Given the description of an element on the screen output the (x, y) to click on. 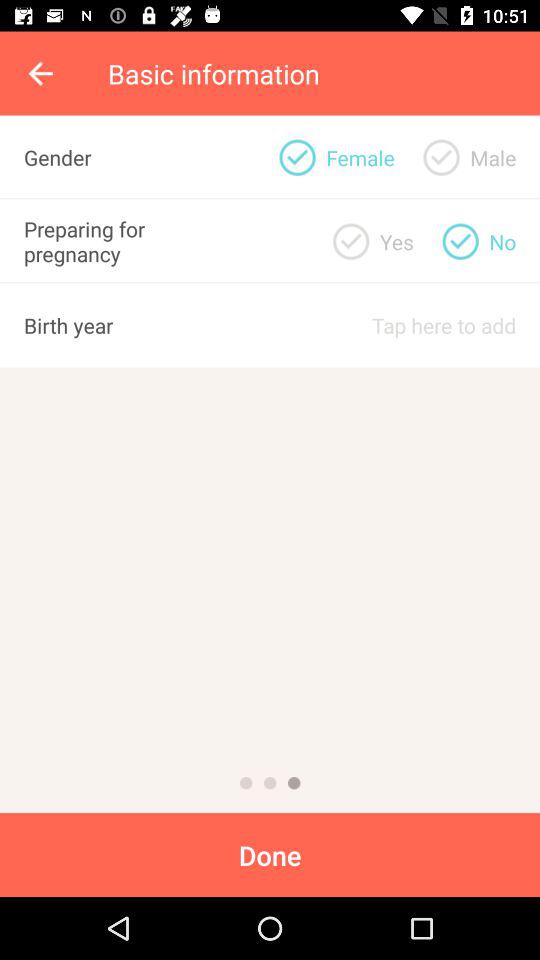
next page (294, 783)
